Given the description of an element on the screen output the (x, y) to click on. 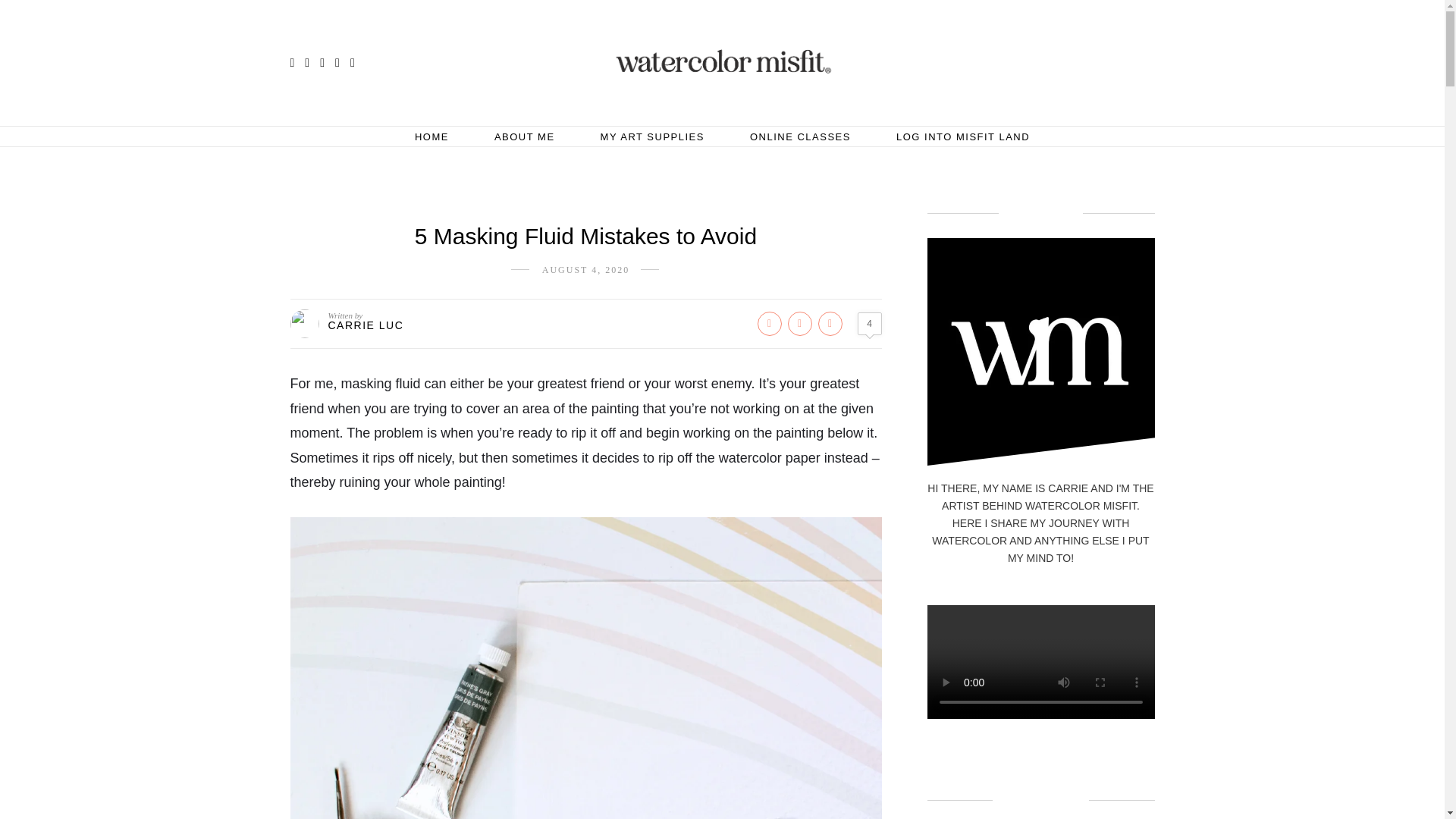
AUGUST 4, 2020 (584, 269)
LOG INTO MISFIT LAND (962, 136)
HOME (431, 136)
ONLINE CLASSES (799, 136)
Posts by Carrie Luc (365, 325)
CARRIE LUC (365, 325)
MY ART SUPPLIES (651, 136)
4 (868, 323)
ABOUT ME (524, 136)
